Given the description of an element on the screen output the (x, y) to click on. 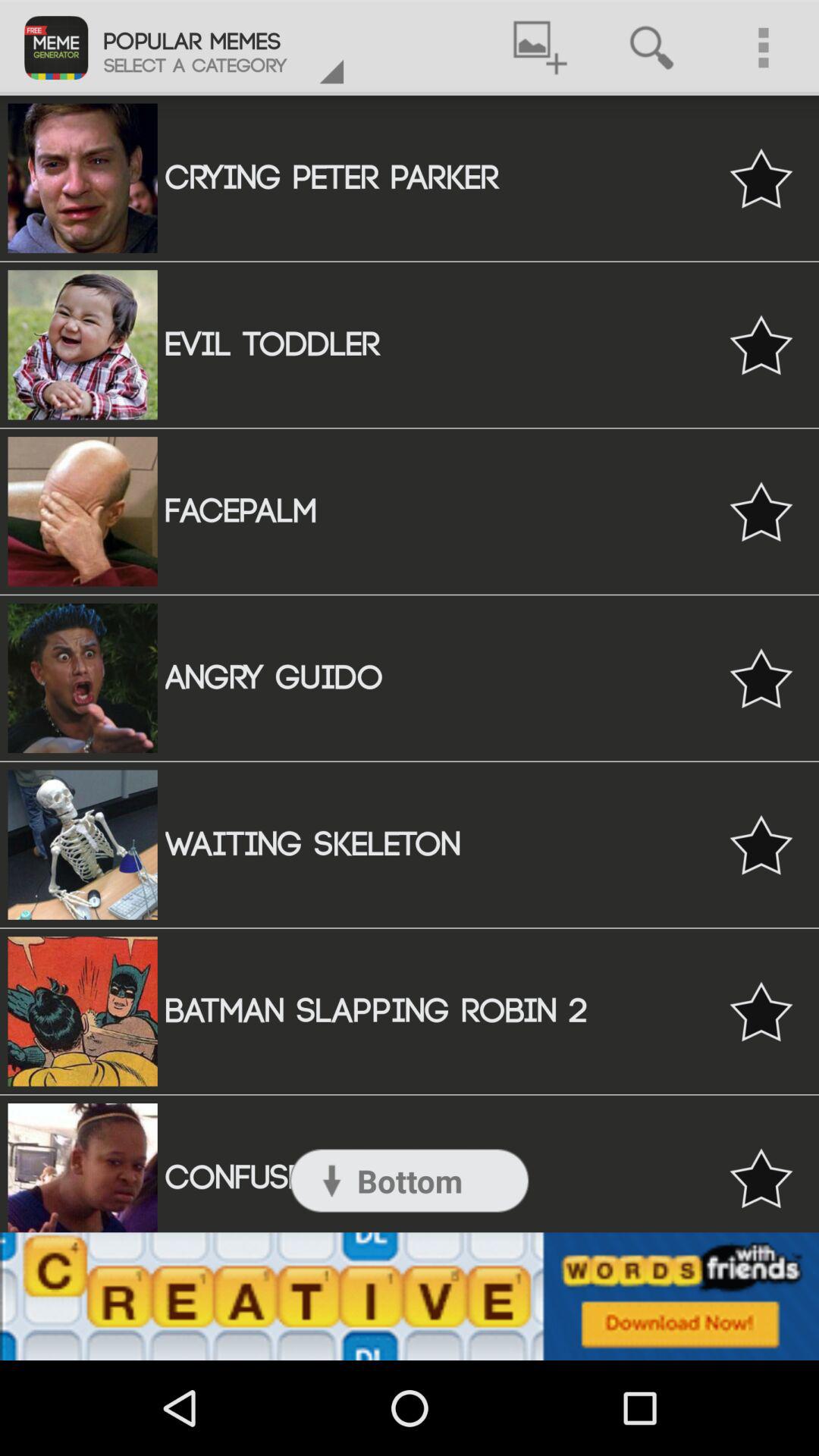
set like option (761, 1177)
